Given the description of an element on the screen output the (x, y) to click on. 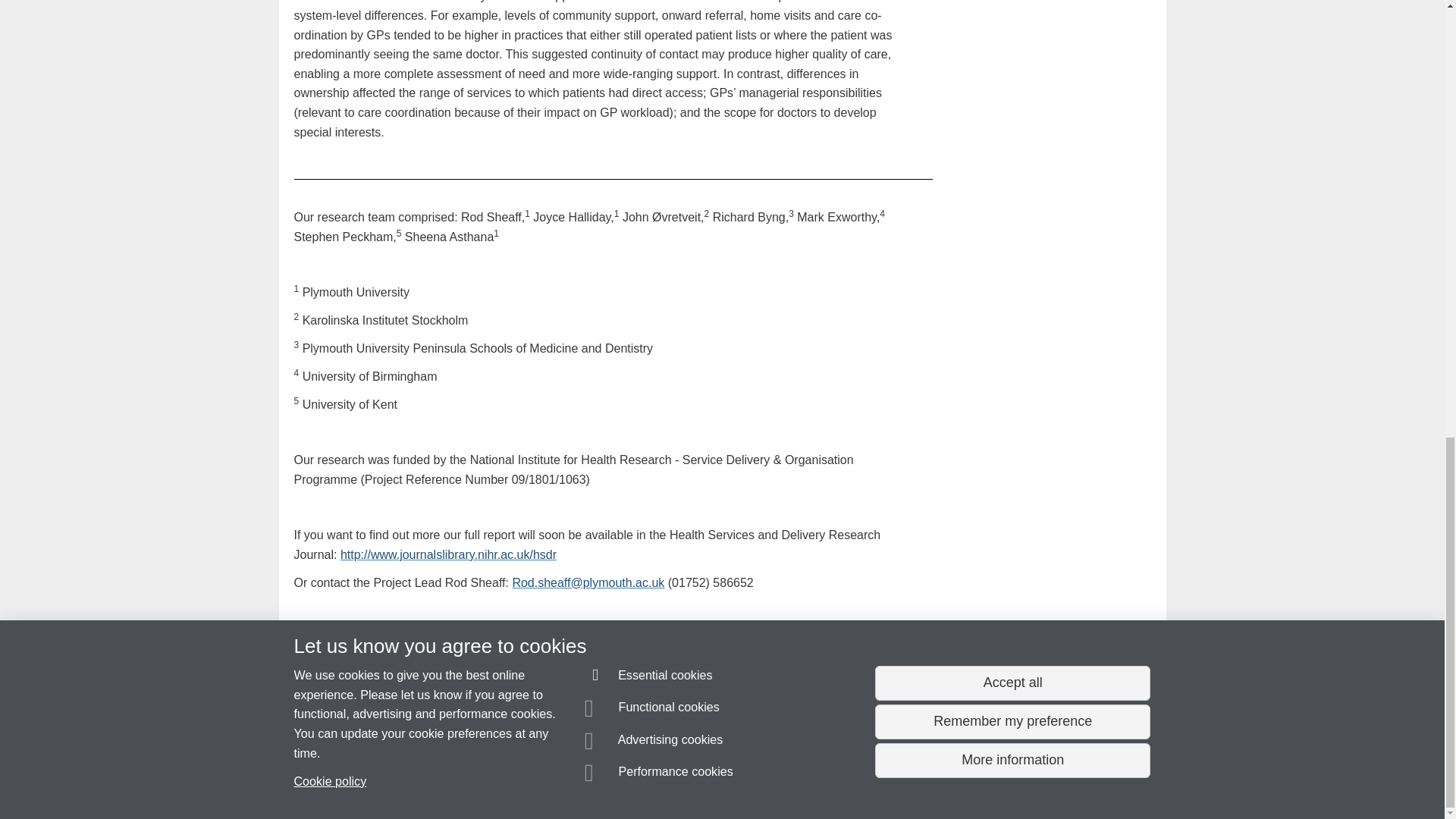
Terms of use (708, 780)
More information about SiteBuilder (365, 780)
Copyright Statement (514, 780)
Information about cookies (467, 780)
Privacy notice (673, 780)
